Given the description of an element on the screen output the (x, y) to click on. 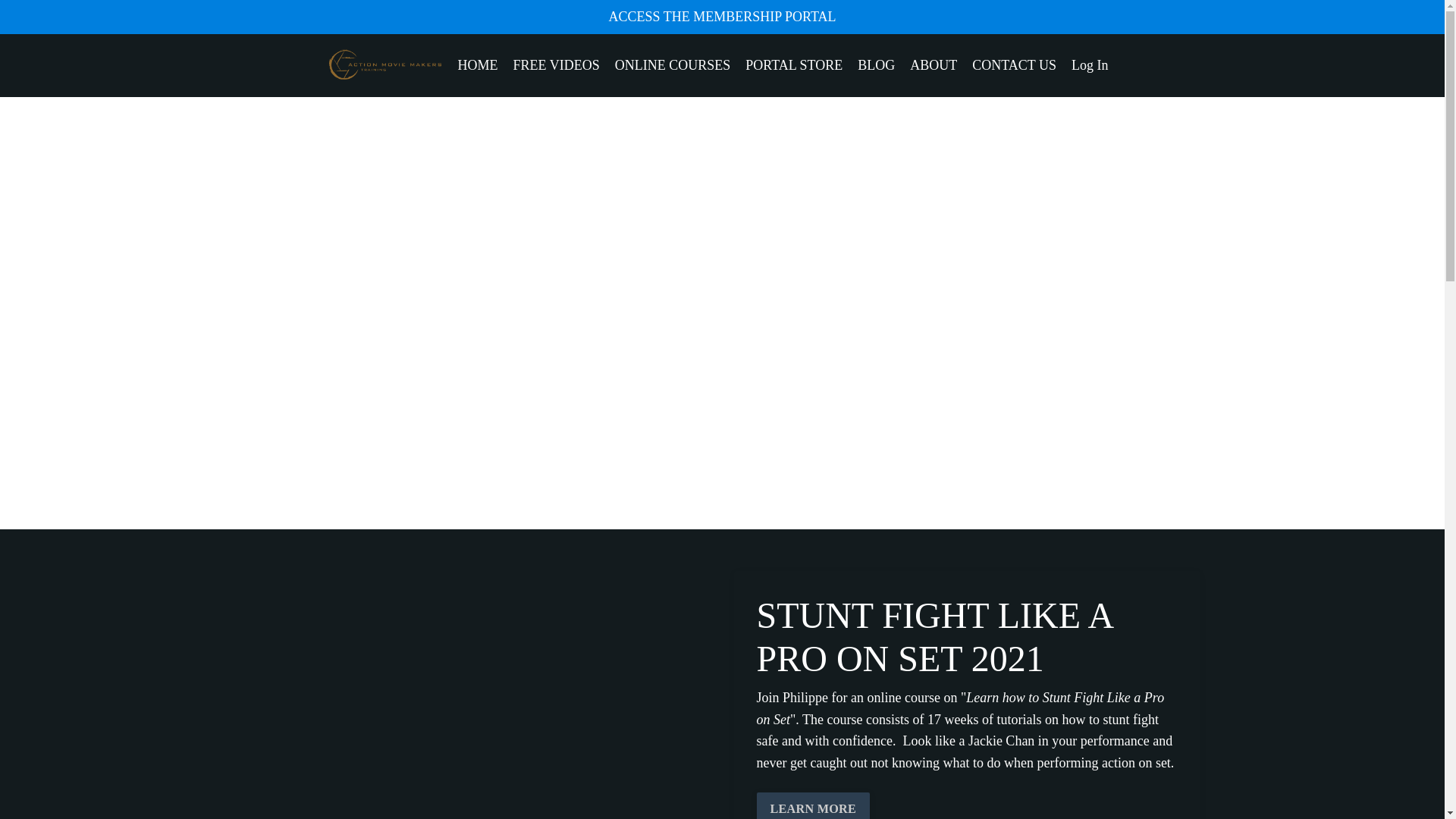
LEARN MORE (813, 805)
ONLINE COURSES (672, 65)
PORTAL STORE (794, 65)
CONTACT US (1014, 65)
HOME (477, 65)
ABOUT (933, 65)
BLOG (876, 65)
Log In (1089, 64)
FREE VIDEOS (556, 65)
